Given the description of an element on the screen output the (x, y) to click on. 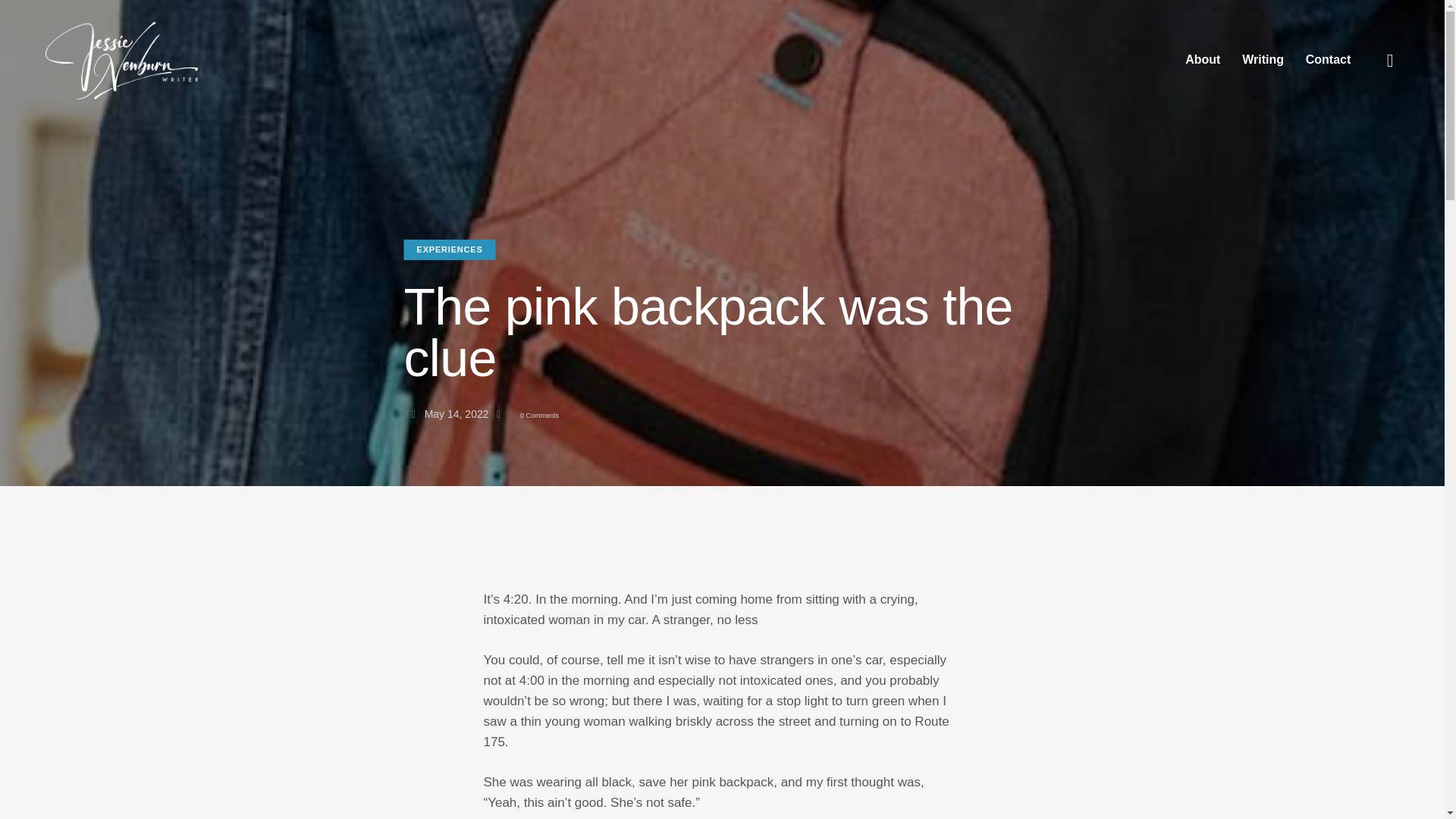
About (1202, 60)
Writing (1263, 60)
Contact (1327, 60)
